Given the description of an element on the screen output the (x, y) to click on. 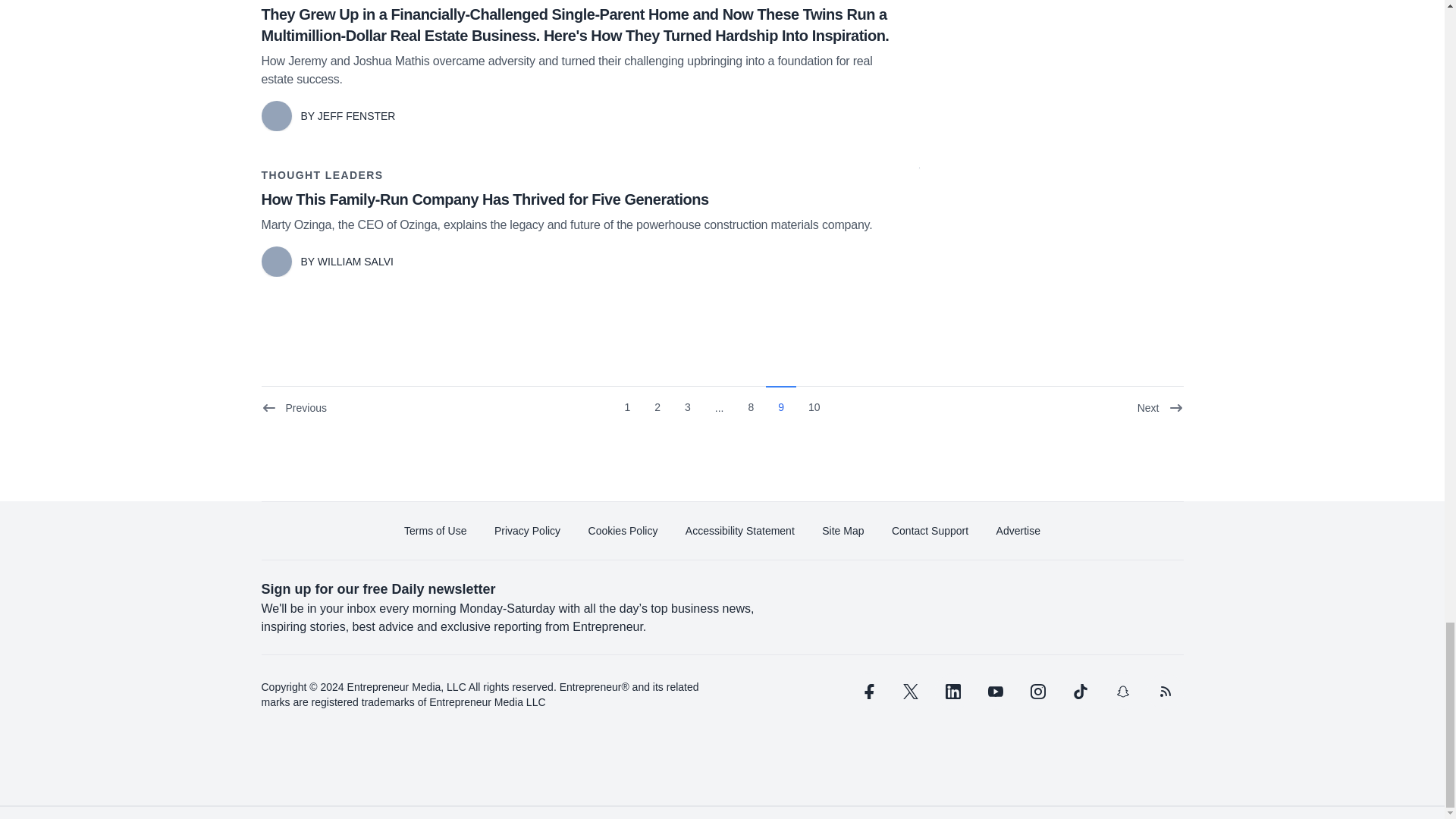
facebook (866, 691)
instagram (1037, 691)
twitter (909, 691)
youtube (994, 691)
rss (1164, 691)
tiktok (1079, 691)
snapchat (1121, 691)
linkedin (952, 691)
